Given the description of an element on the screen output the (x, y) to click on. 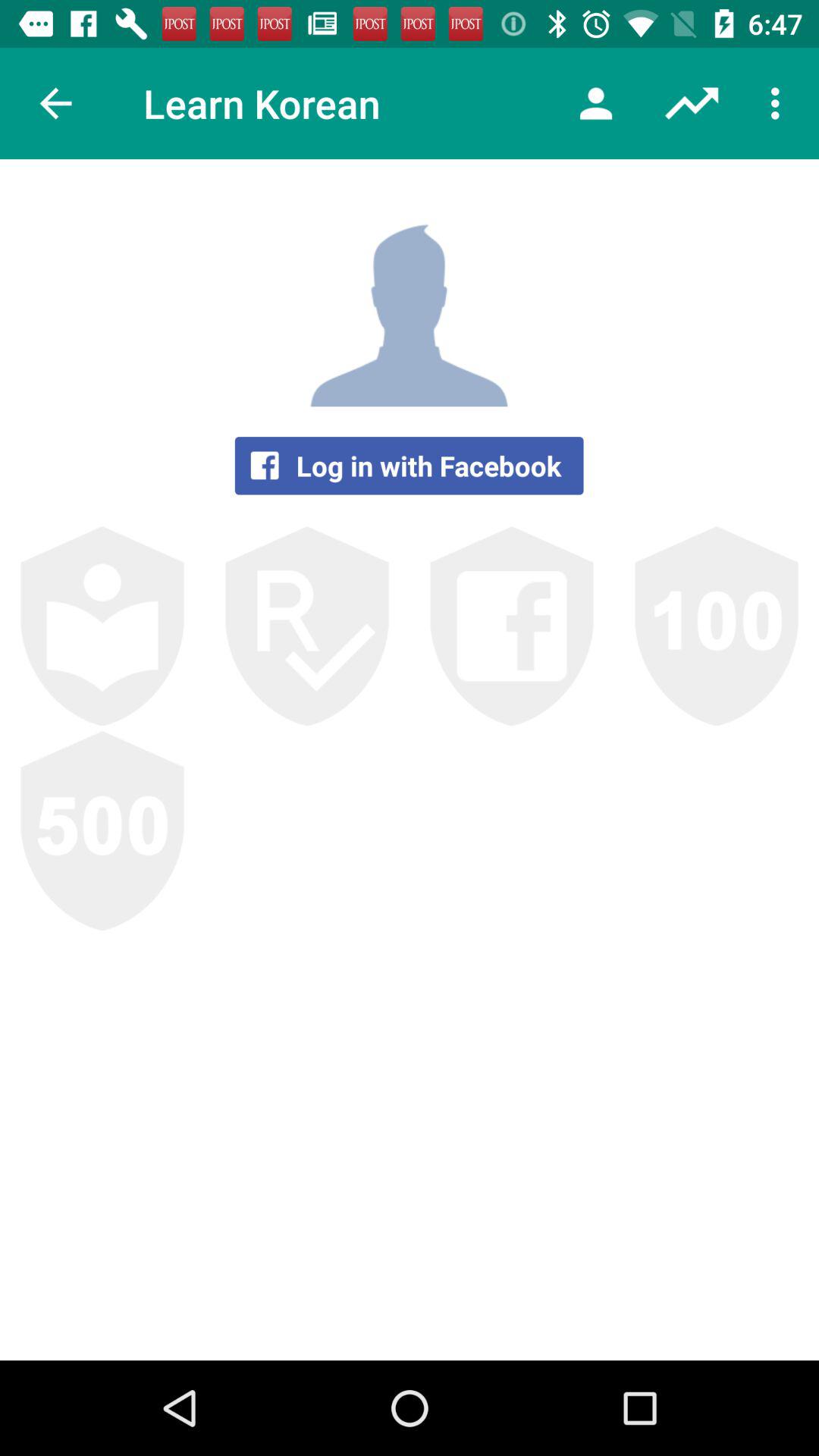
open log in with icon (408, 465)
